Given the description of an element on the screen output the (x, y) to click on. 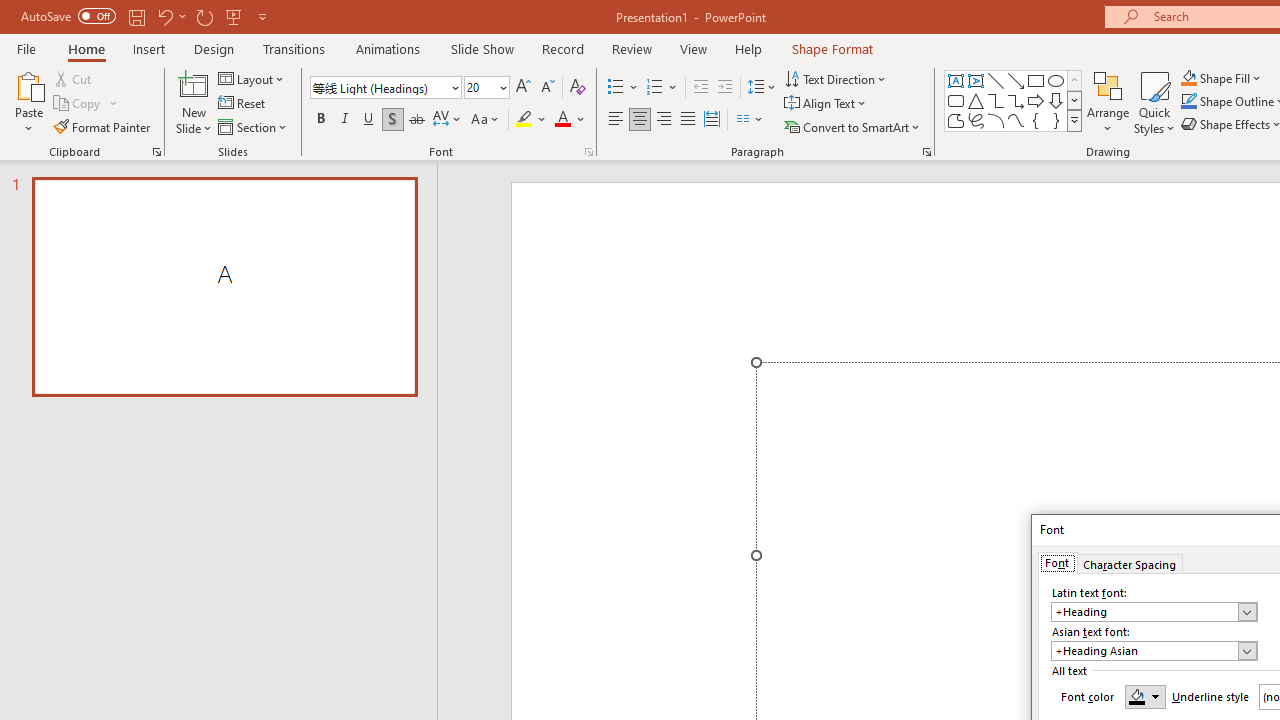
Font color RGB(0, 0, 0) (1145, 696)
